Given the description of an element on the screen output the (x, y) to click on. 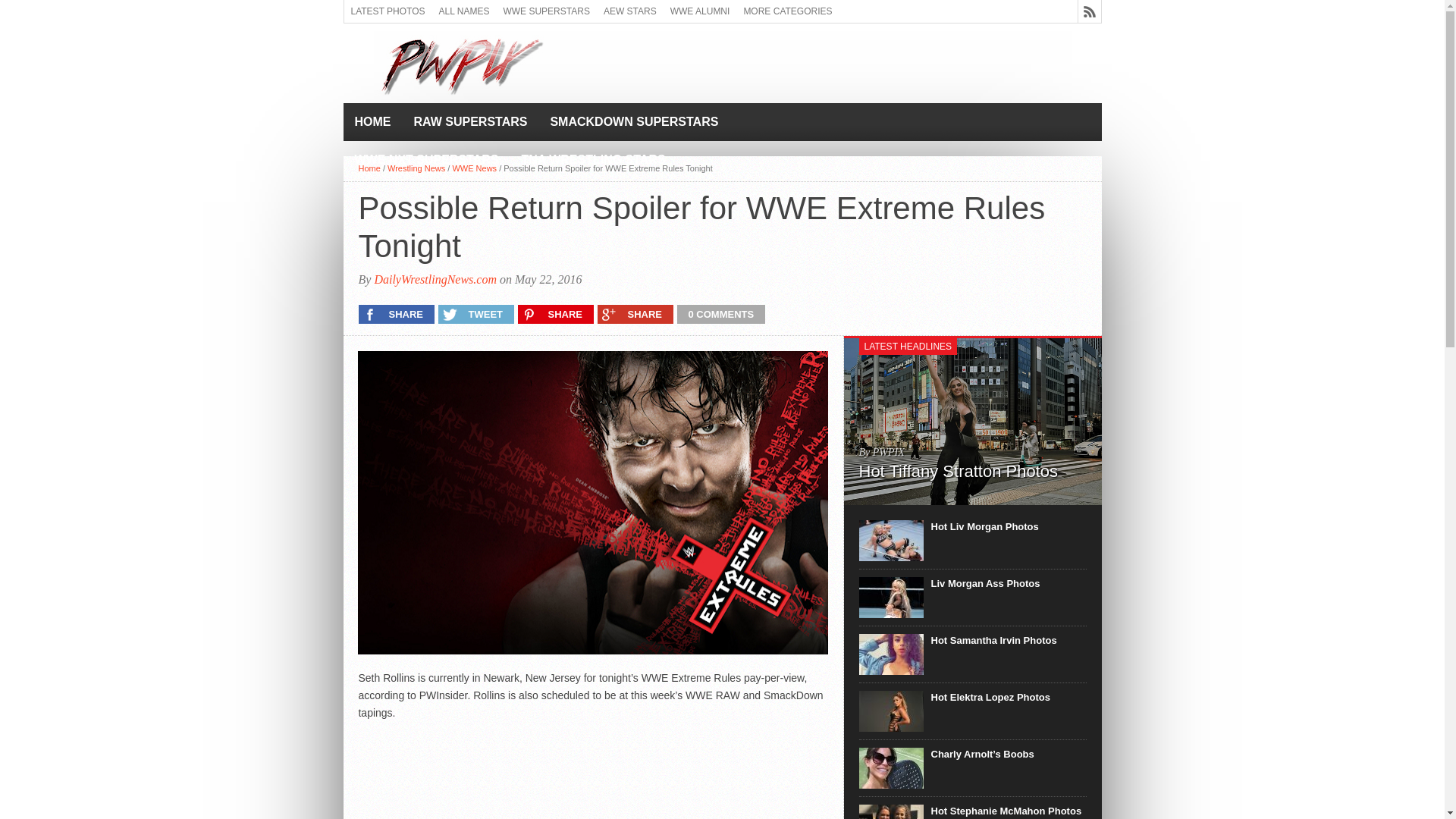
Latest Photos (387, 11)
All Names (464, 11)
Wrestling News (416, 167)
TNA WRESTLING STARS (593, 159)
Home (369, 167)
WWE NXT SUPERSTARS (425, 159)
MORE CATEGORIES (787, 11)
Photo Categories (787, 11)
WWE News (473, 167)
Raw Superstars (469, 121)
TNA Wrestling Stars Photos (593, 159)
WWE Alumni Photos (699, 11)
LATEST PHOTOS (387, 11)
WWE Superstars Photos (545, 11)
SmackDown Superstars (633, 121)
